Given the description of an element on the screen output the (x, y) to click on. 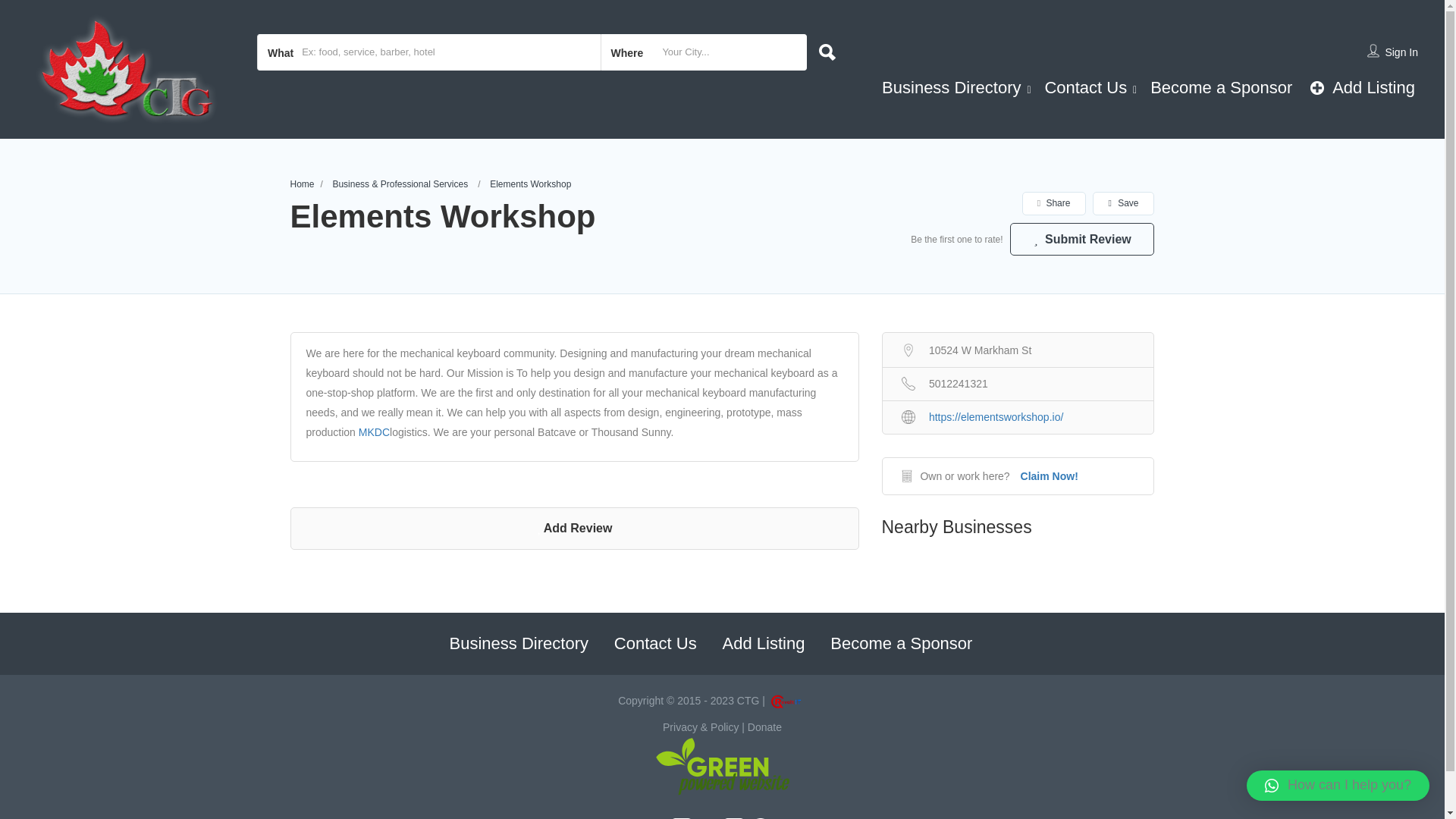
Sign In (1401, 51)
Business Directory (951, 86)
